Given the description of an element on the screen output the (x, y) to click on. 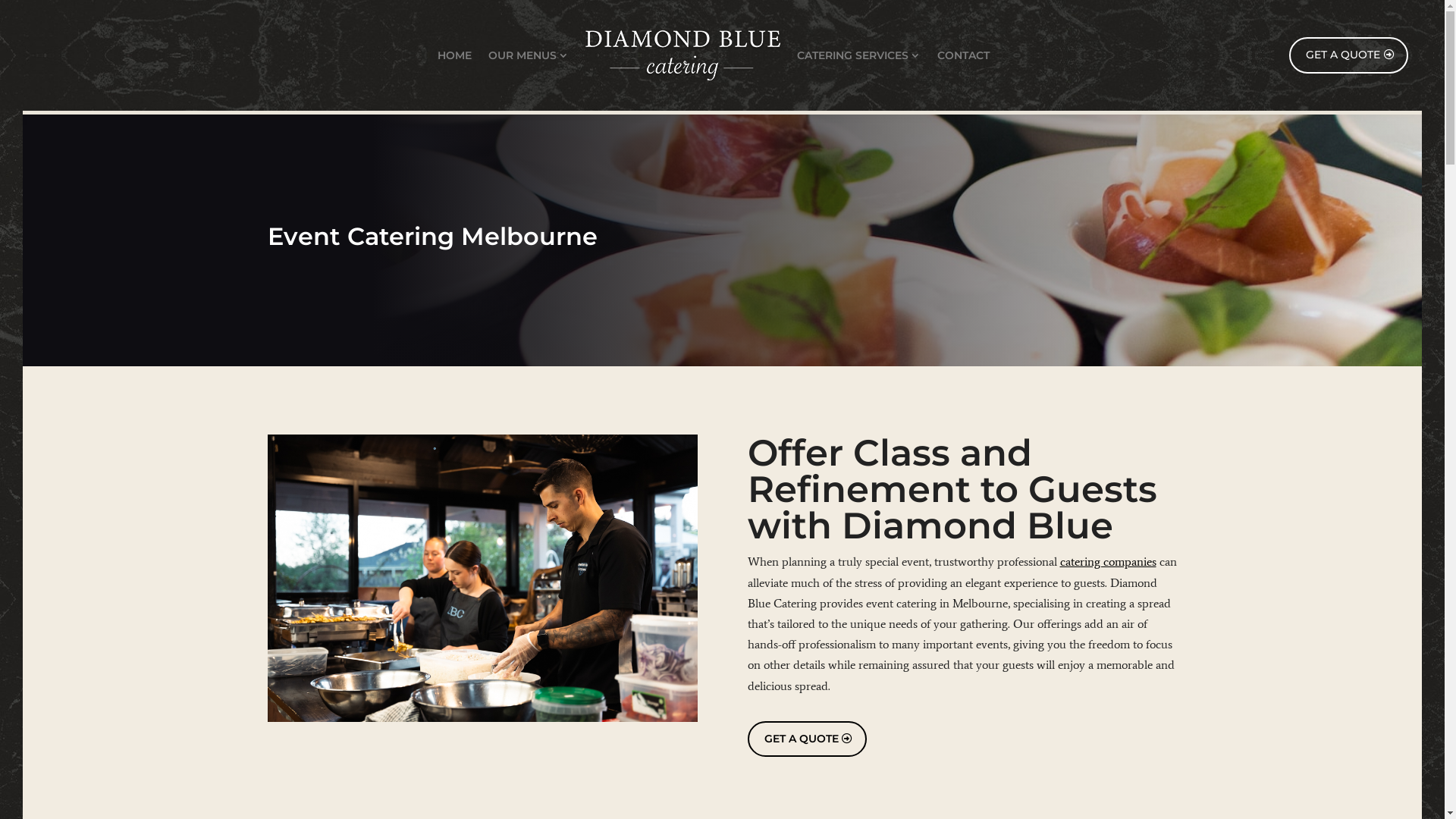
GET A QUOTE Element type: text (806, 739)
DSC04533 Element type: hover (481, 577)
CONTACT Element type: text (963, 55)
OUR MENUS Element type: text (528, 55)
catering companies Element type: text (1108, 561)
CATERING SERVICES Element type: text (858, 55)
HOME Element type: text (454, 55)
GET A QUOTE Element type: text (1348, 55)
